Given the description of an element on the screen output the (x, y) to click on. 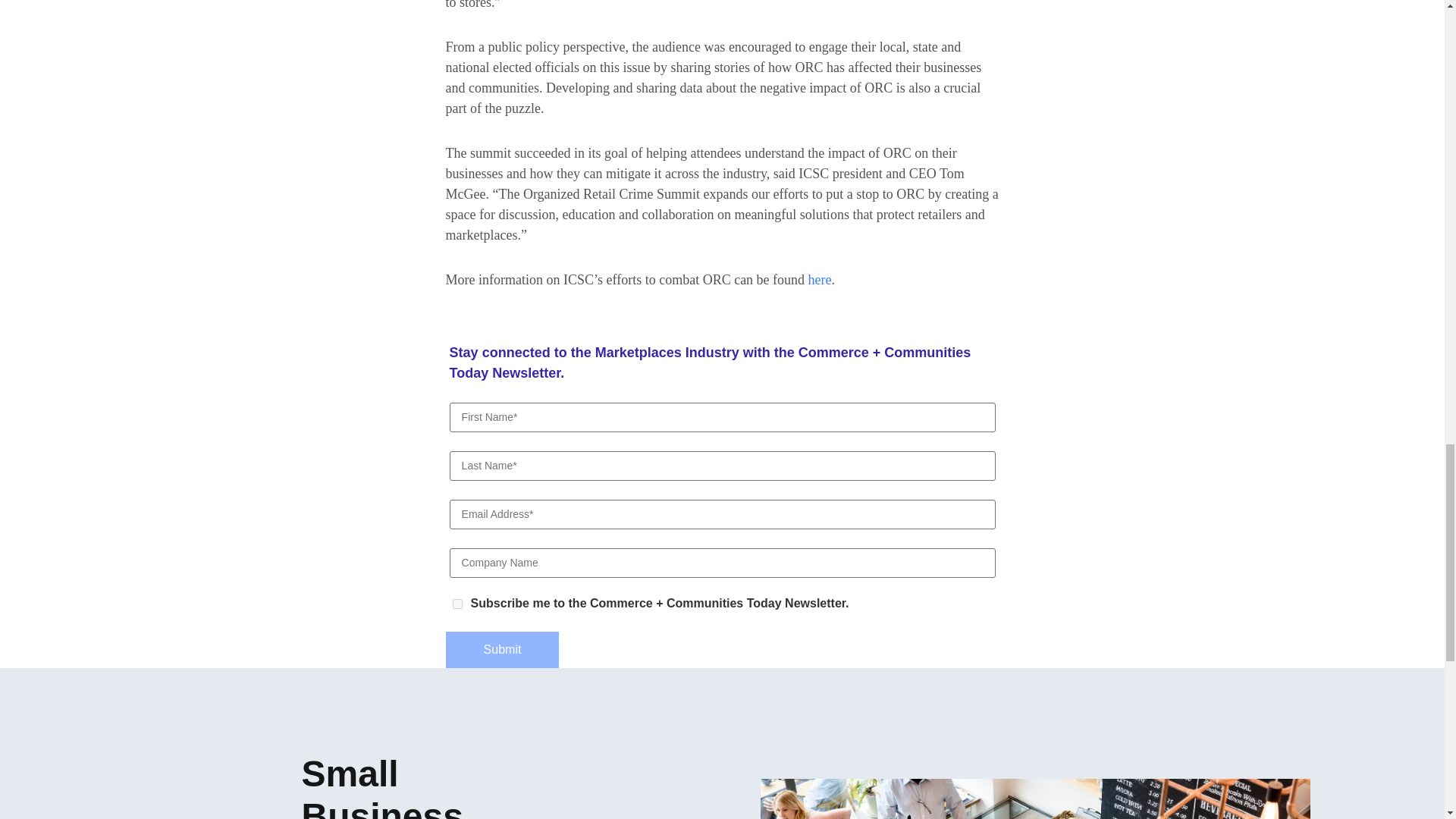
yes (456, 603)
